Given the description of an element on the screen output the (x, y) to click on. 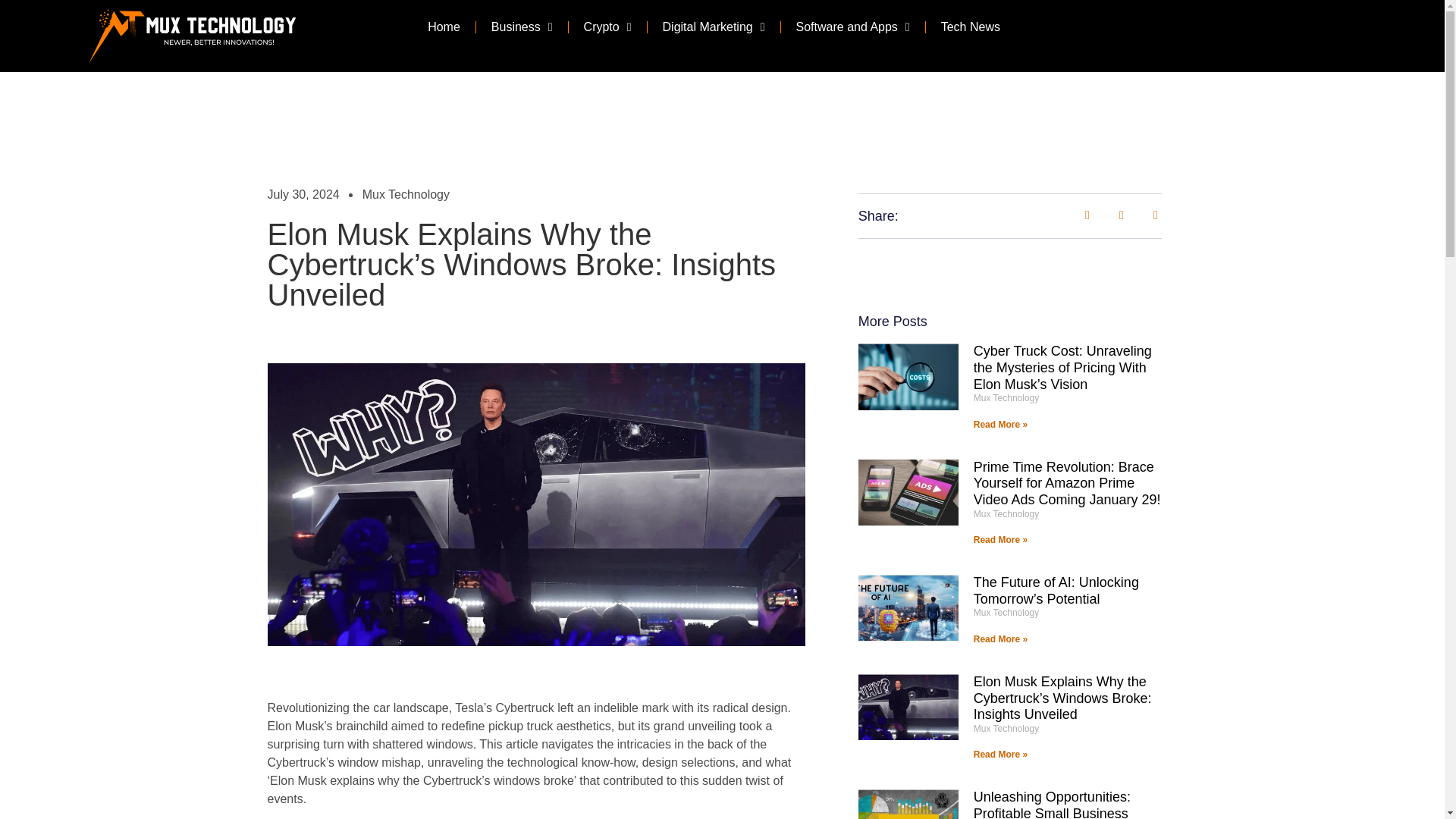
Business (521, 27)
Software and Apps (852, 27)
Digital Marketing (713, 27)
Home (444, 27)
Tech News (970, 27)
Crypto (607, 27)
